Given the description of an element on the screen output the (x, y) to click on. 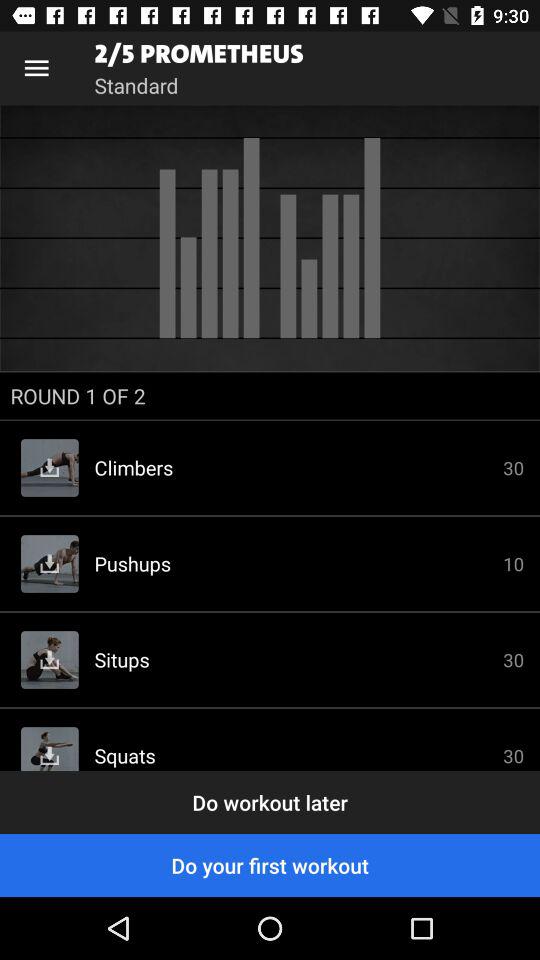
jump until the do your first item (270, 864)
